Given the description of an element on the screen output the (x, y) to click on. 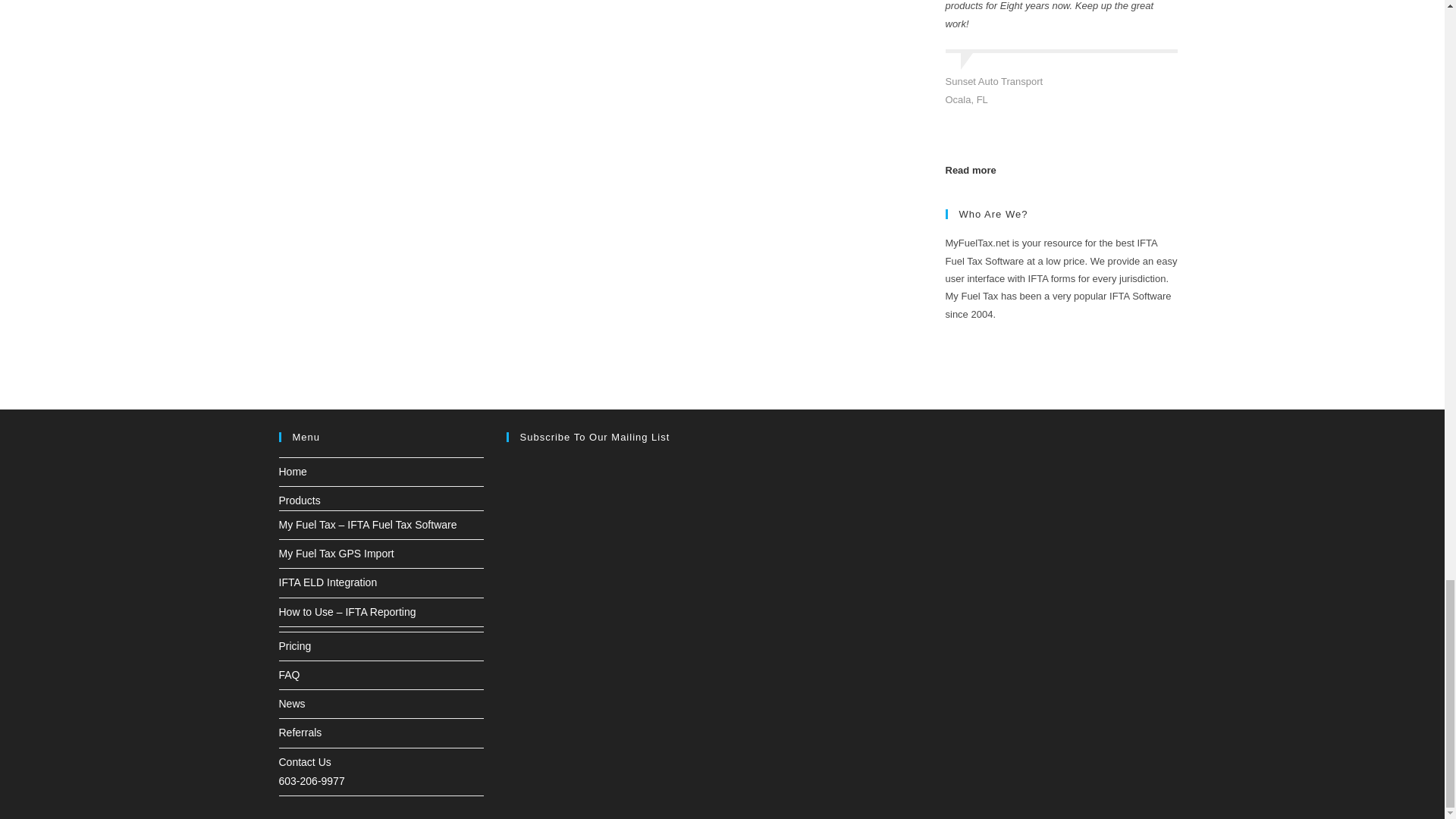
Home (293, 471)
IFTA ELD Integration (328, 582)
Pricing (295, 645)
Read more (969, 170)
News (292, 703)
FAQ (289, 674)
Products (299, 500)
My Fuel Tax GPS Import (336, 553)
